Given the description of an element on the screen output the (x, y) to click on. 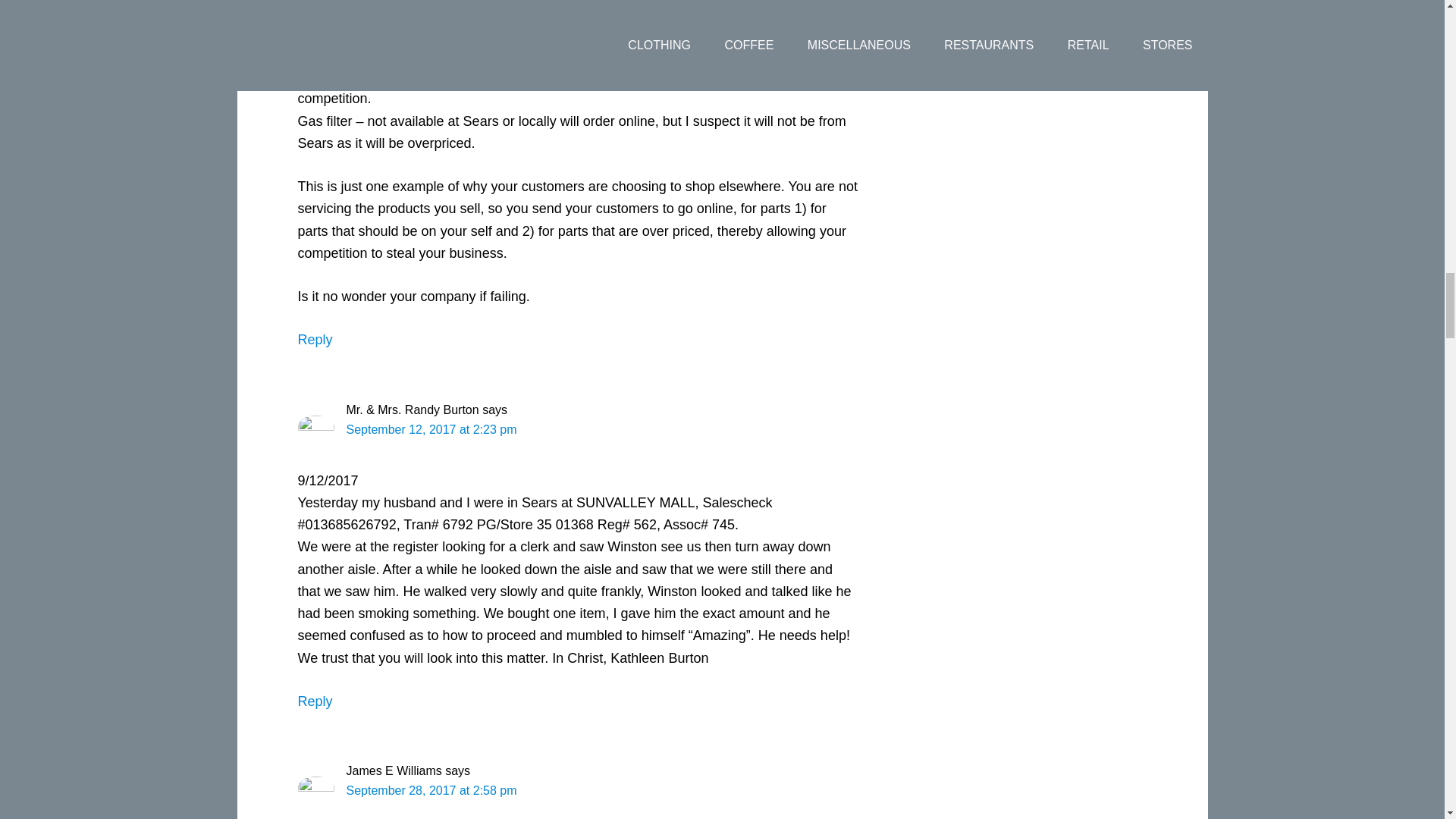
Reply (314, 339)
September 12, 2017 at 2:23 pm (431, 429)
September 28, 2017 at 2:58 pm (431, 789)
Reply (314, 701)
